Given the description of an element on the screen output the (x, y) to click on. 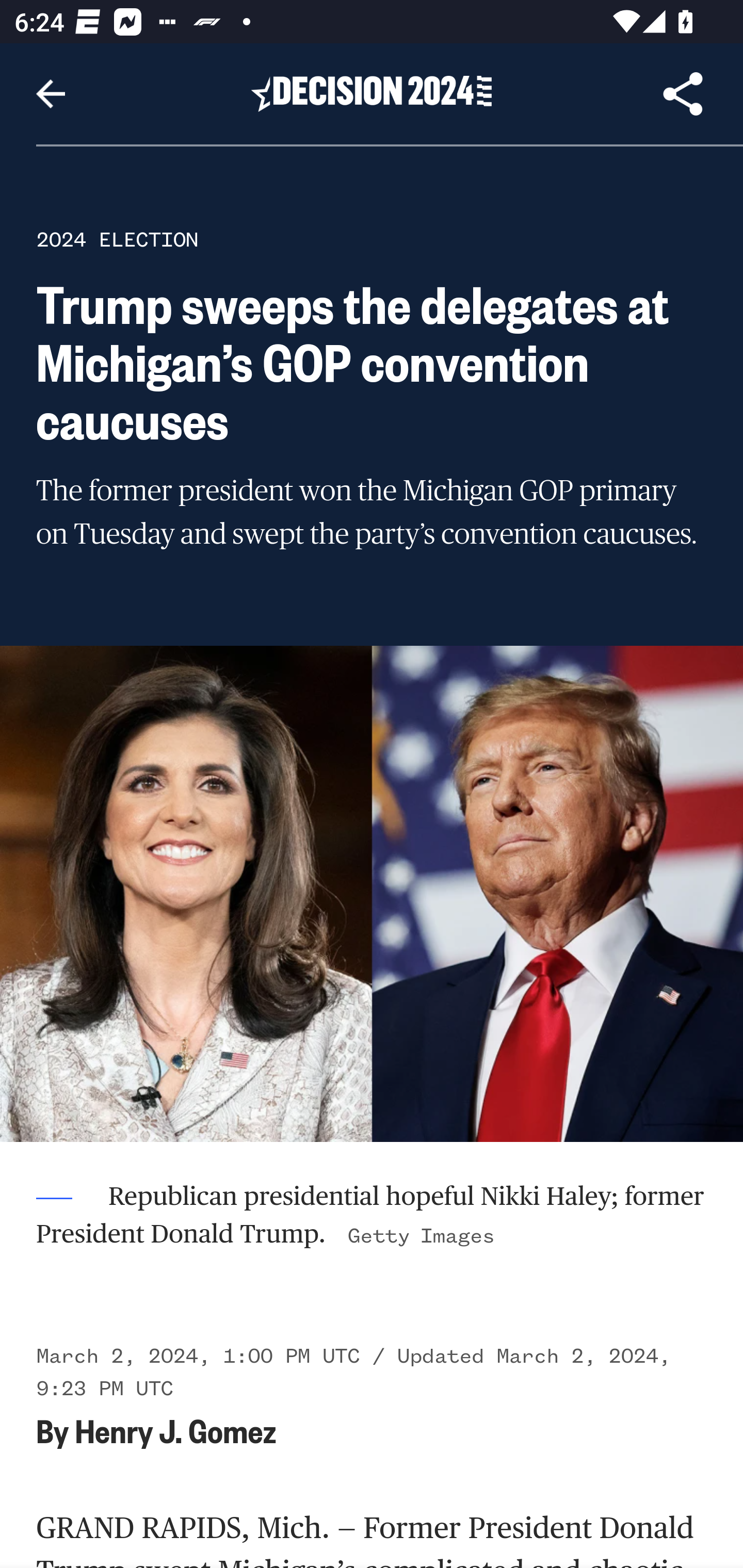
Navigate up (50, 93)
Share Article, button (683, 94)
Header, Decision 2024 (371, 93)
2024 ELECTION (117, 239)
